Given the description of an element on the screen output the (x, y) to click on. 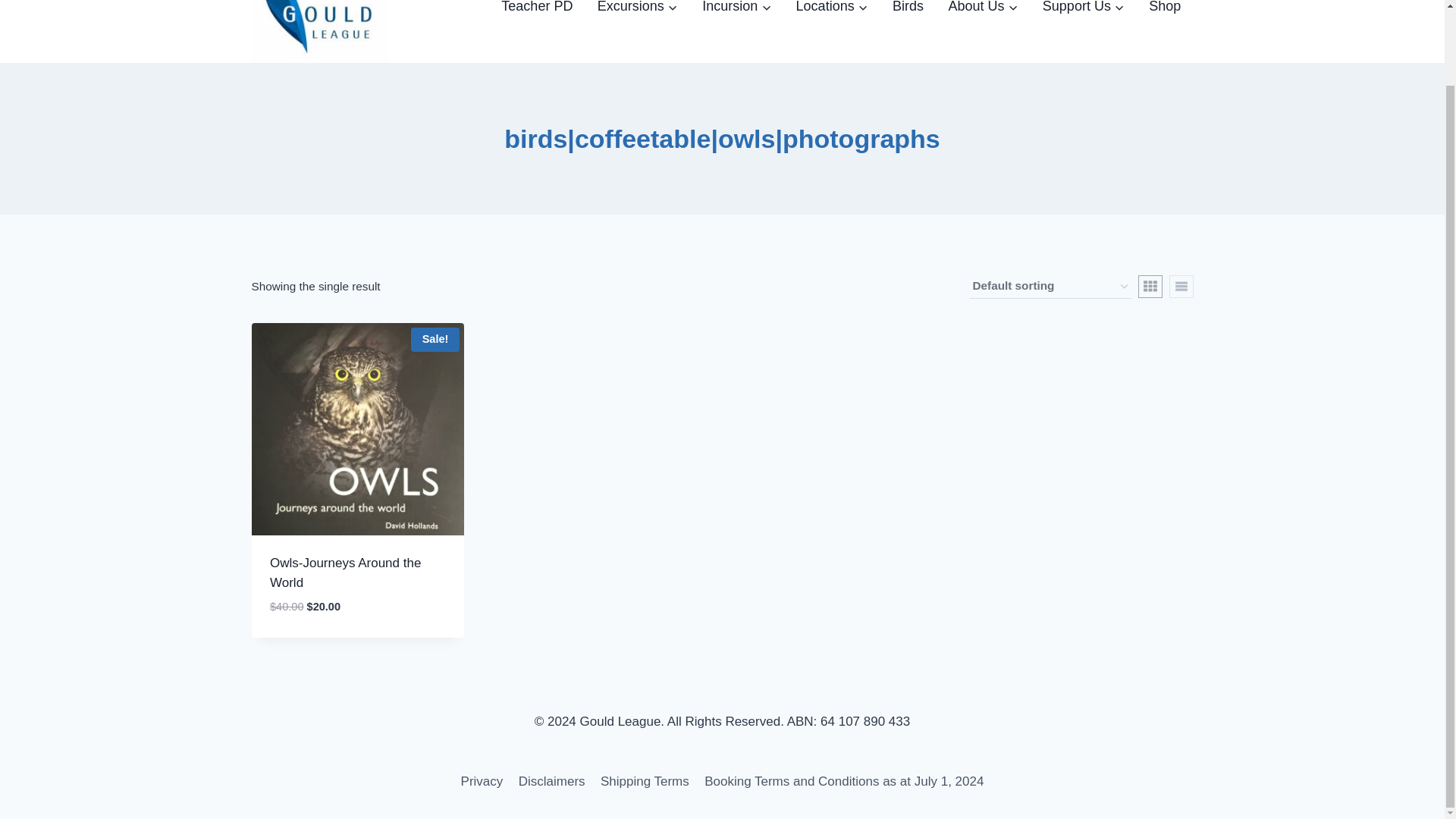
Teacher PD (537, 12)
List View (1181, 286)
Excursions (637, 12)
Grid View (1149, 286)
